Given the description of an element on the screen output the (x, y) to click on. 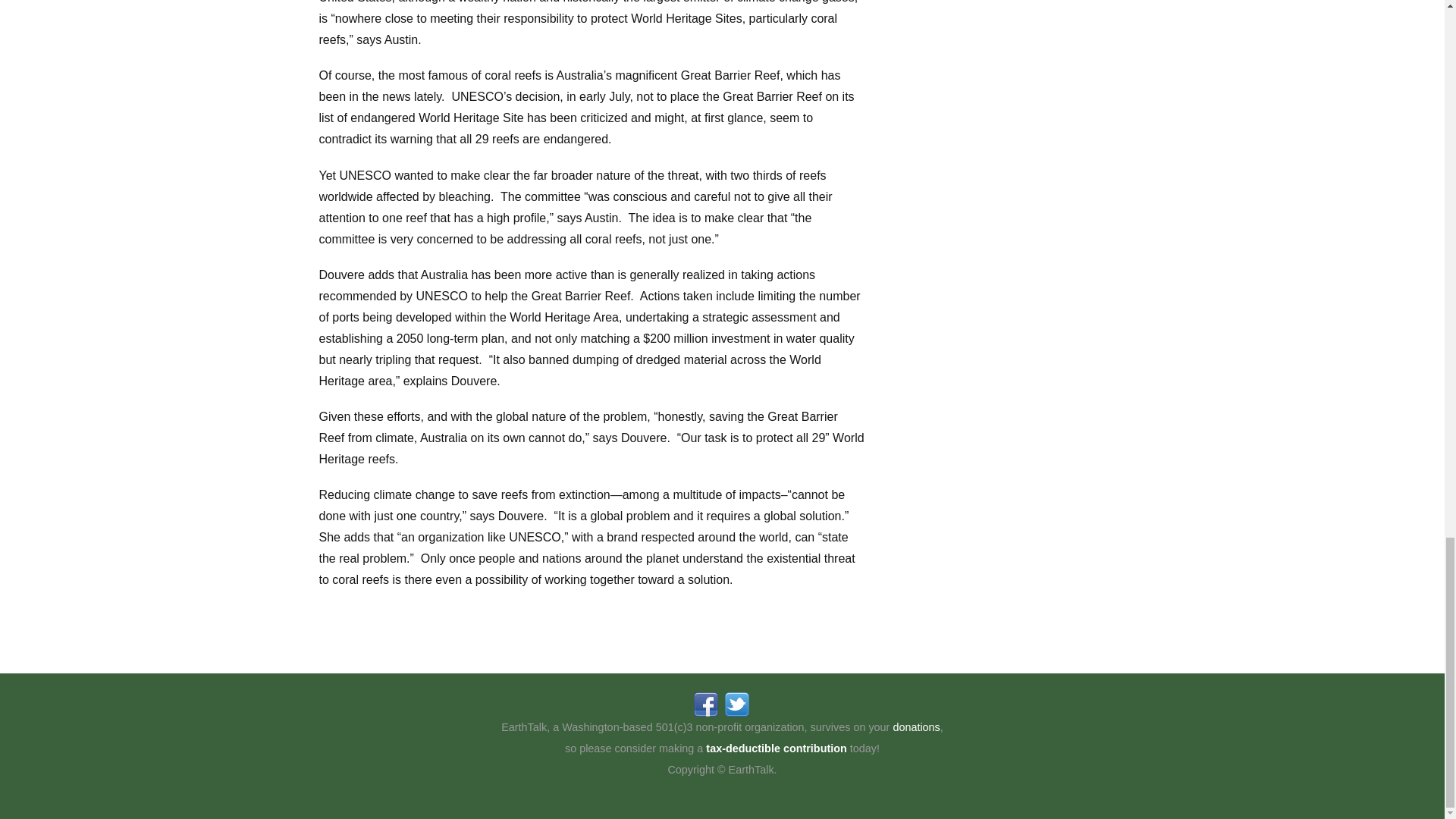
donations (915, 727)
tax-deductible contribution (775, 748)
